Given the description of an element on the screen output the (x, y) to click on. 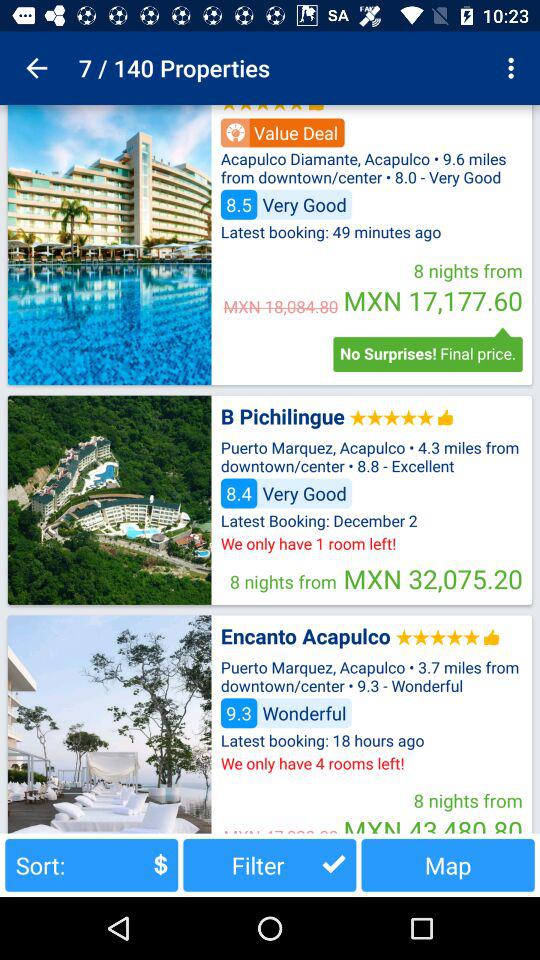
tap the map (447, 864)
